Given the description of an element on the screen output the (x, y) to click on. 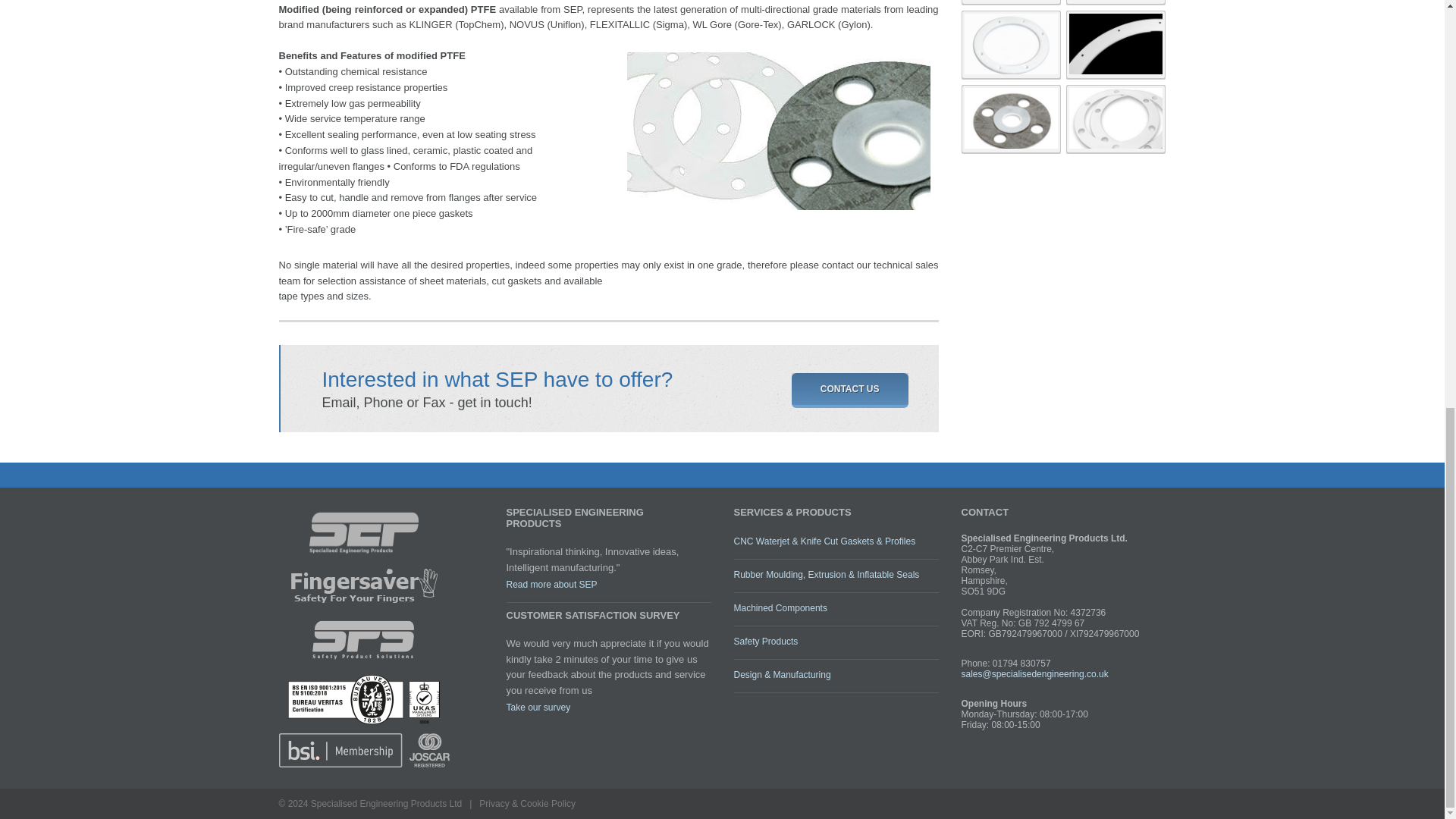
Read more about SEP (551, 584)
Machined Components (780, 607)
Read our Latest News (538, 706)
Safety Products (765, 641)
